Given the description of an element on the screen output the (x, y) to click on. 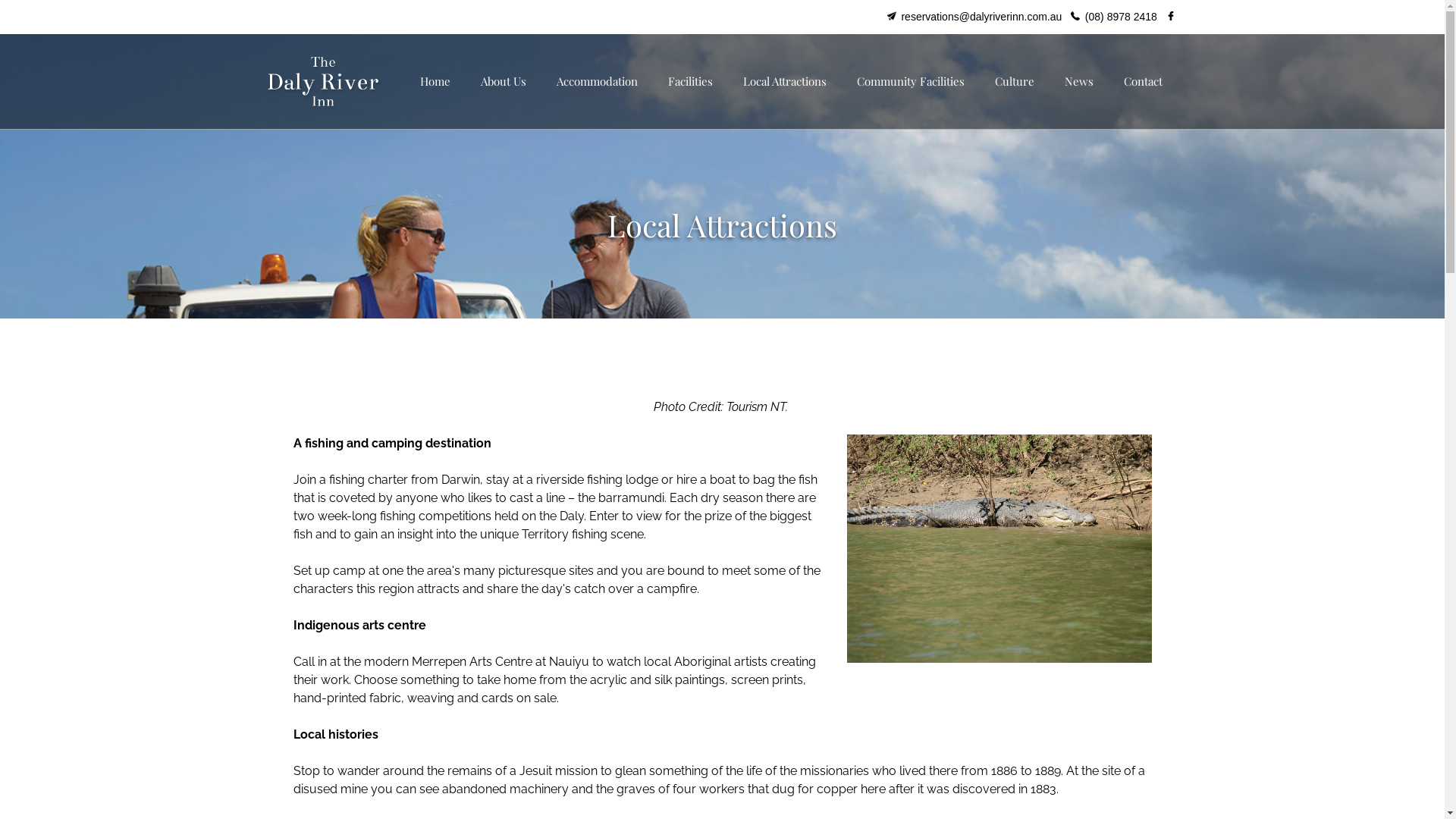
News Element type: text (1078, 81)
Local Attractions Element type: text (784, 81)
About Us Element type: text (503, 81)
Community Facilities Element type: text (910, 81)
Culture Element type: text (1014, 81)
Accommodation Element type: text (596, 81)
Home Element type: text (434, 81)
Facilities Element type: text (689, 81)
Contact Element type: text (1142, 81)
